Given the description of an element on the screen output the (x, y) to click on. 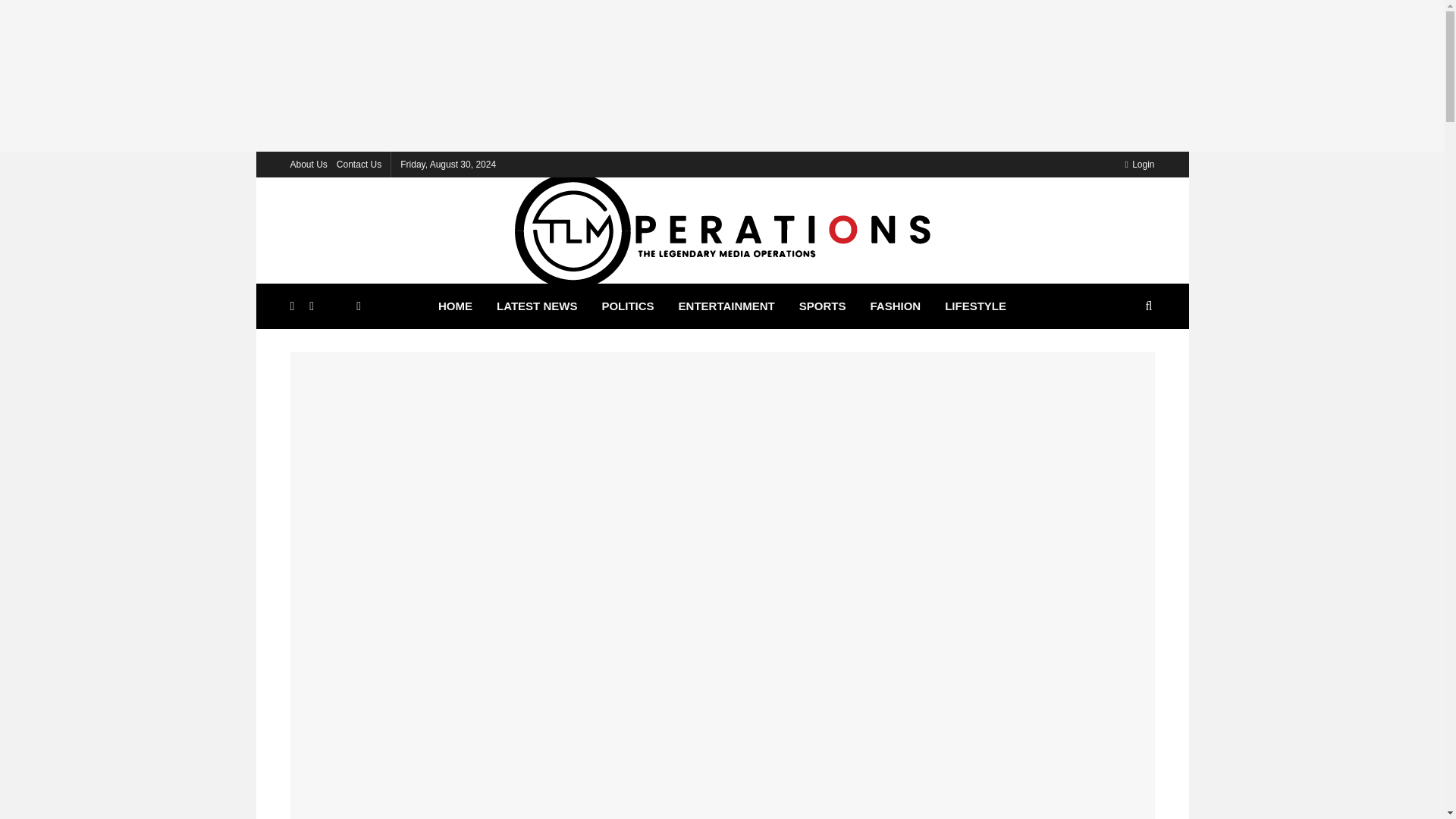
LIFESTYLE (975, 306)
Login (1139, 164)
FASHION (895, 306)
POLITICS (627, 306)
LATEST NEWS (536, 306)
SPORTS (823, 306)
HOME (455, 306)
About Us (307, 164)
Contact Us (358, 164)
ENTERTAINMENT (726, 306)
